Given the description of an element on the screen output the (x, y) to click on. 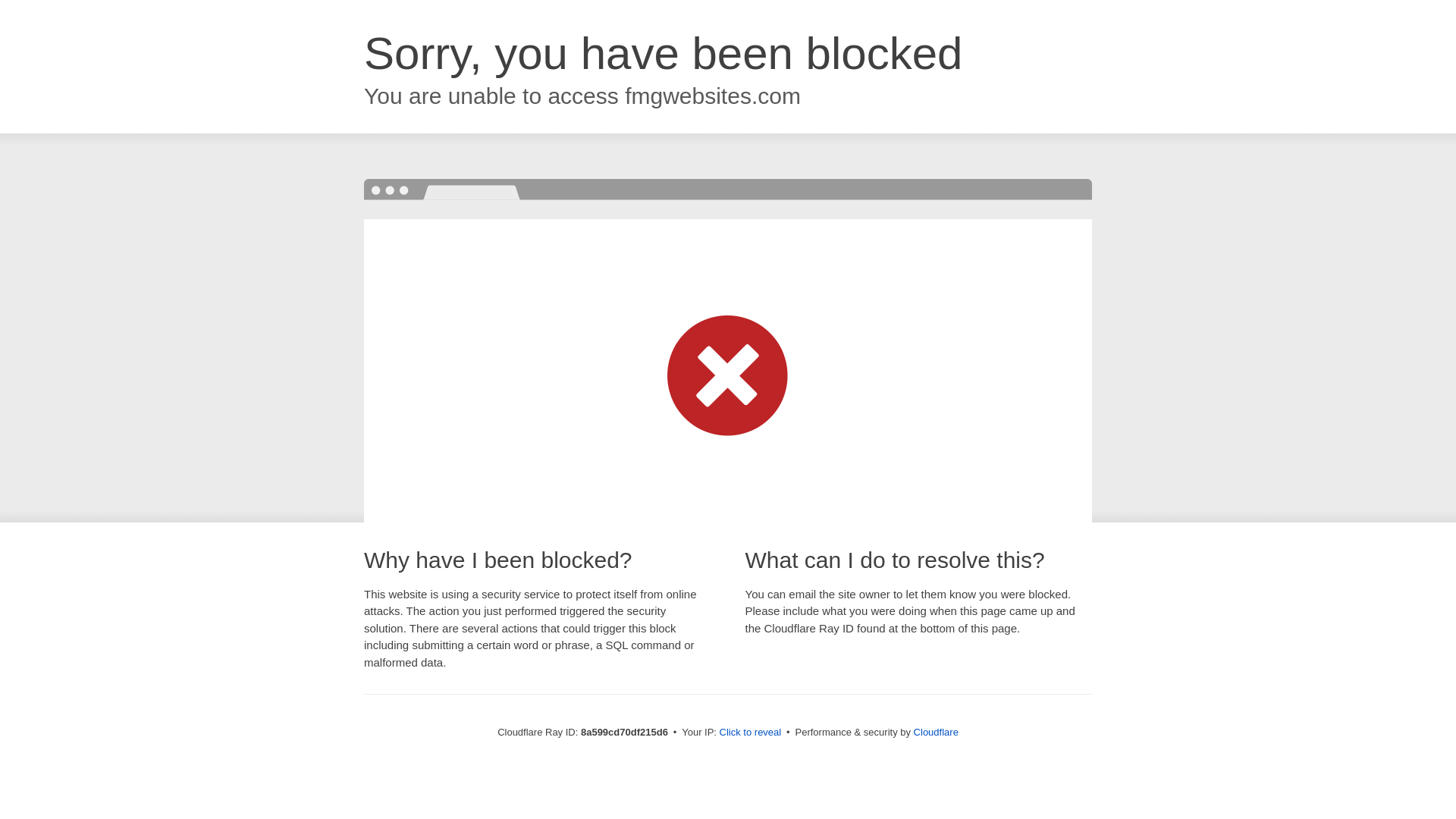
Cloudflare (936, 731)
Click to reveal (750, 732)
